Given the description of an element on the screen output the (x, y) to click on. 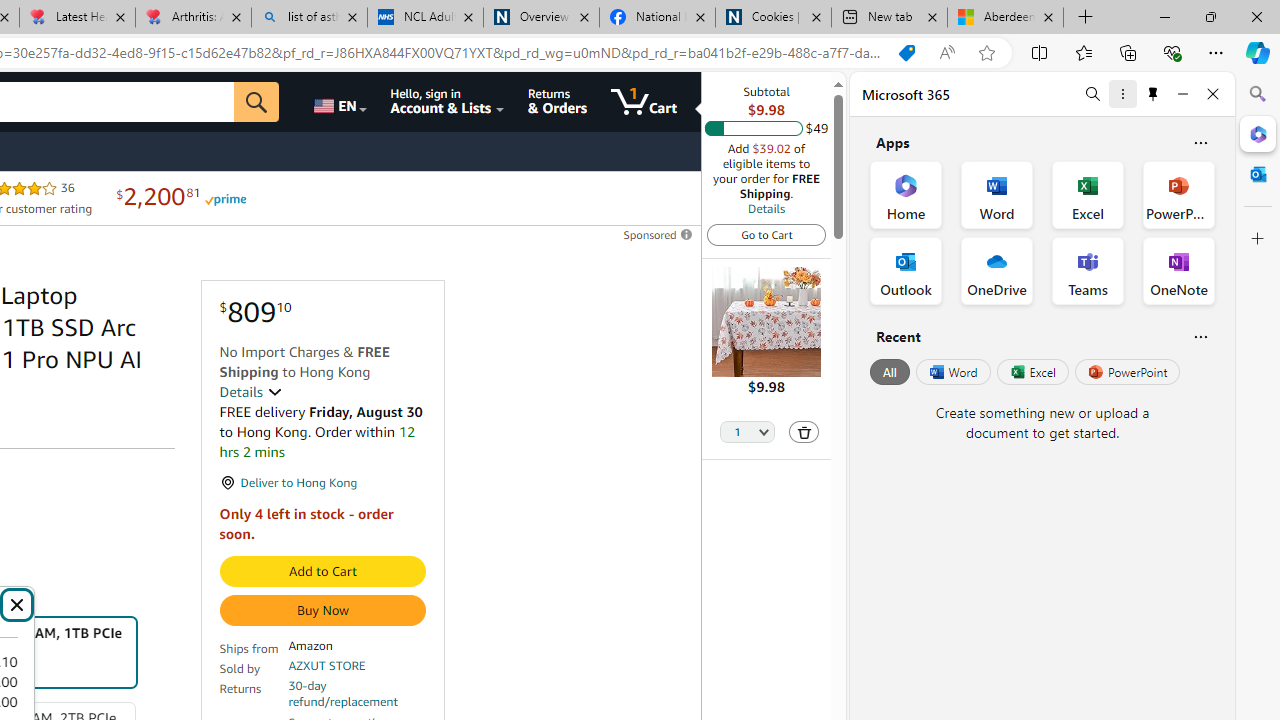
Prime (224, 198)
Word Office App (996, 194)
